Given the description of an element on the screen output the (x, y) to click on. 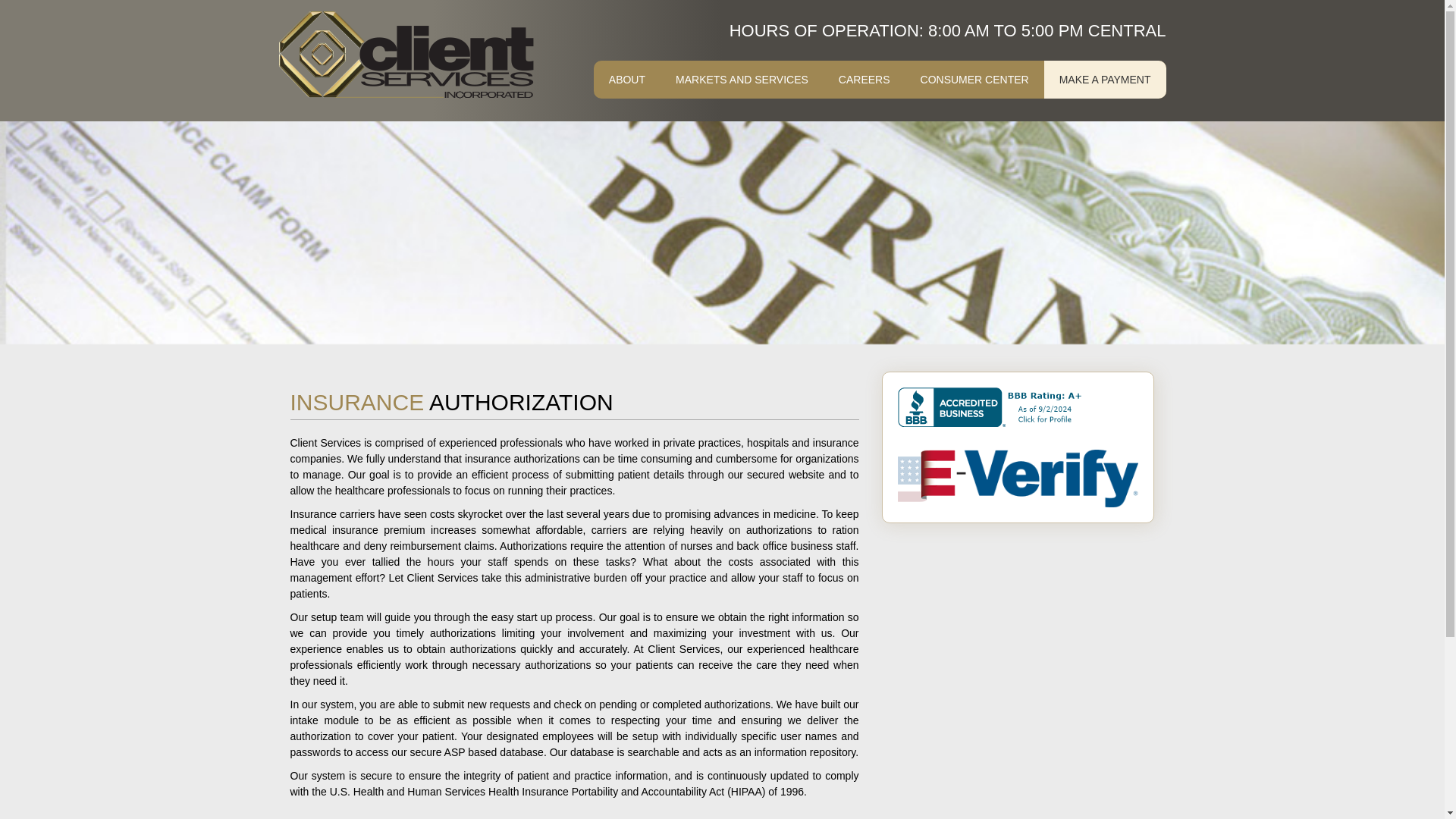
About (627, 79)
MARKETS AND SERVICES (742, 79)
Markets and Services (742, 79)
ABOUT (627, 79)
CAREERS (864, 79)
MAKE A PAYMENT (1104, 79)
CONSUMER CENTER (974, 79)
